Given the description of an element on the screen output the (x, y) to click on. 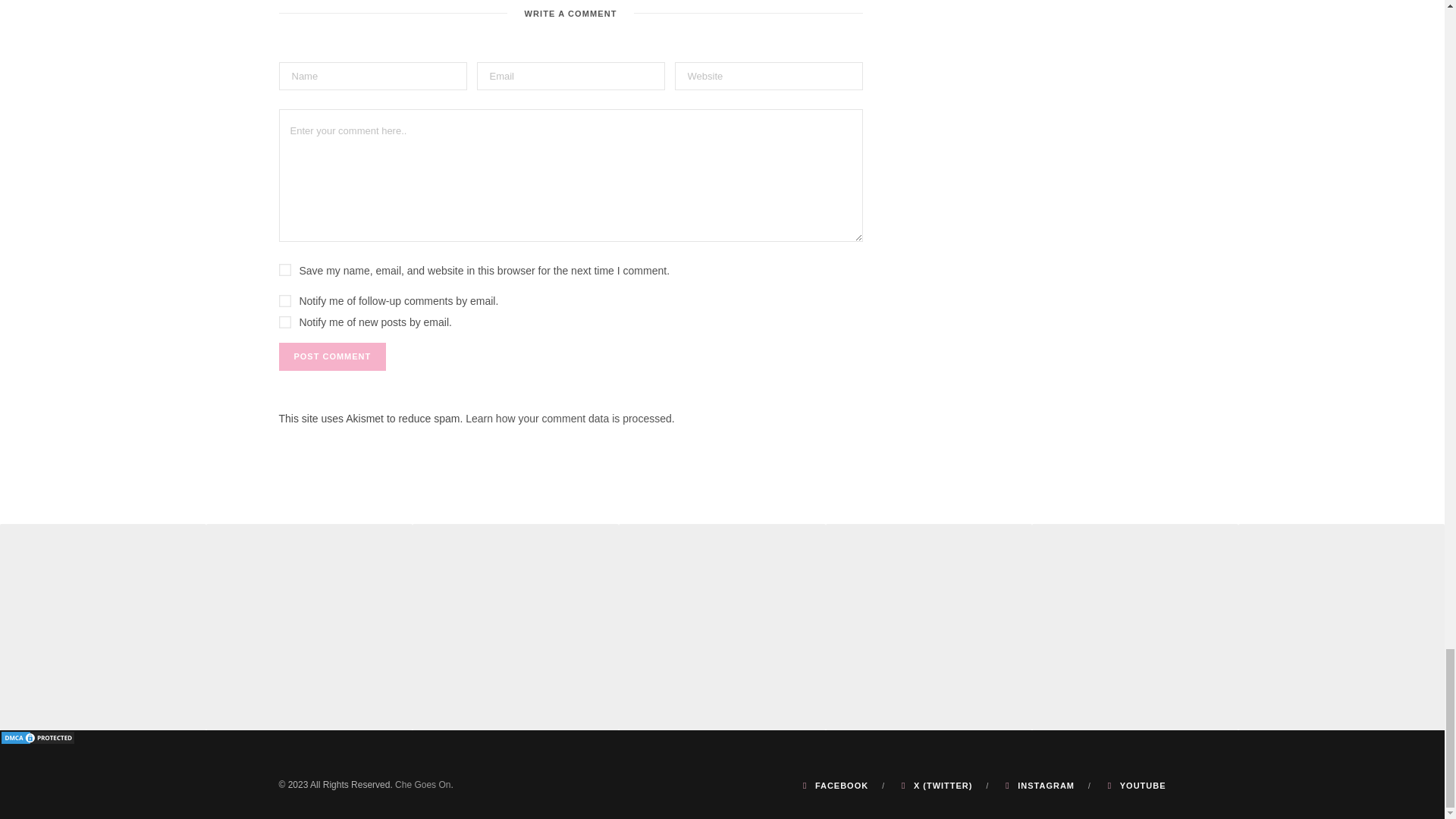
subscribe (285, 322)
yes (285, 269)
Post Comment (333, 357)
subscribe (285, 300)
